Given the description of an element on the screen output the (x, y) to click on. 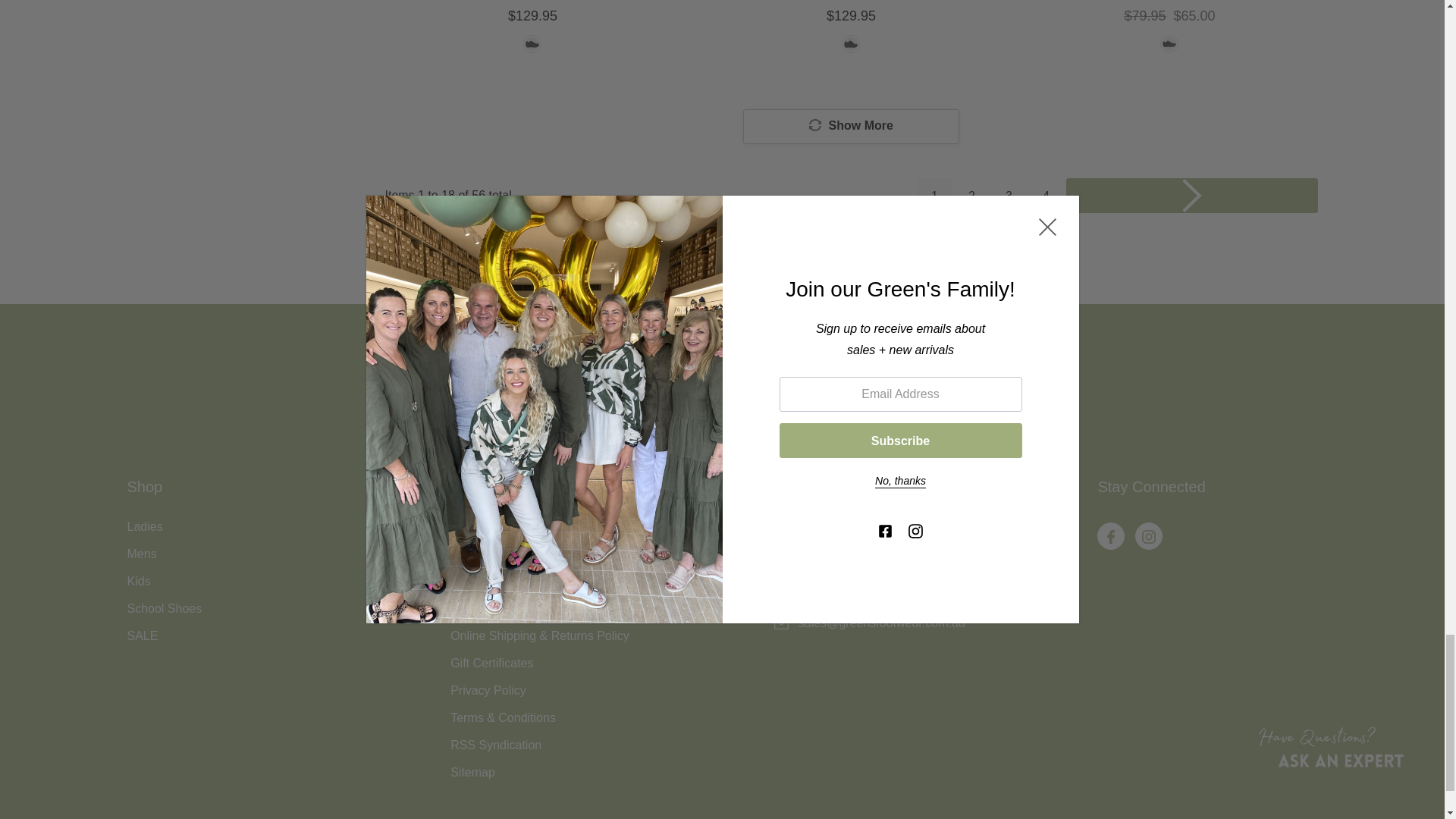
Submit (969, 414)
